Given the description of an element on the screen output the (x, y) to click on. 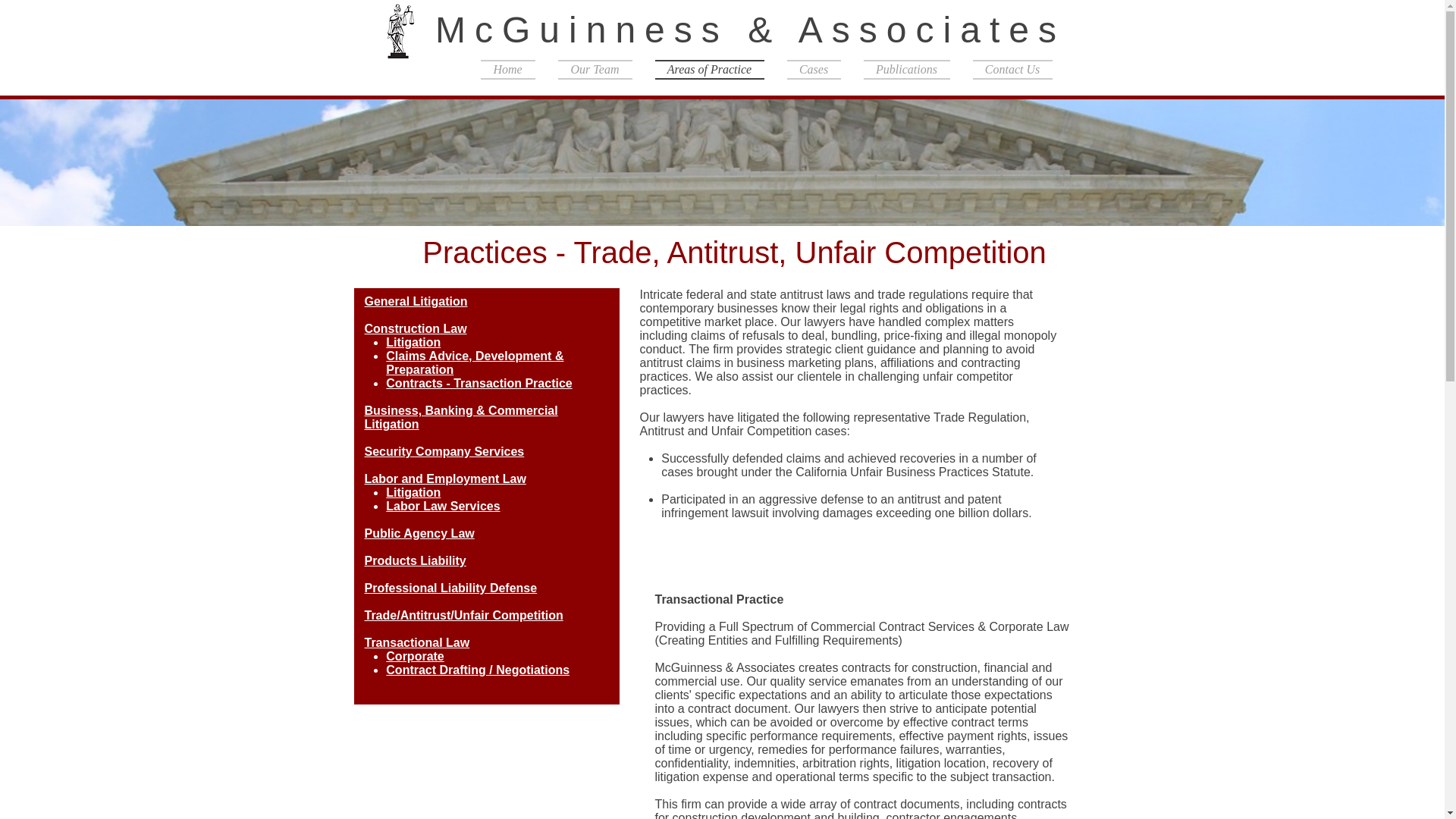
General Litigation (410, 300)
Contracts - Transaction Practice (466, 361)
Litigation (408, 337)
Labor and Employment Law (446, 478)
General Litigation (416, 300)
Security Company Services (445, 451)
Construction Law (409, 325)
Litigation (414, 341)
Contracts - Transaction Practice (480, 382)
Corporate (410, 567)
Areas of Practice (708, 69)
Products Liability (409, 482)
Public Agency Law (413, 458)
Contact Us (1006, 69)
Construction Law (416, 328)
